Given the description of an element on the screen output the (x, y) to click on. 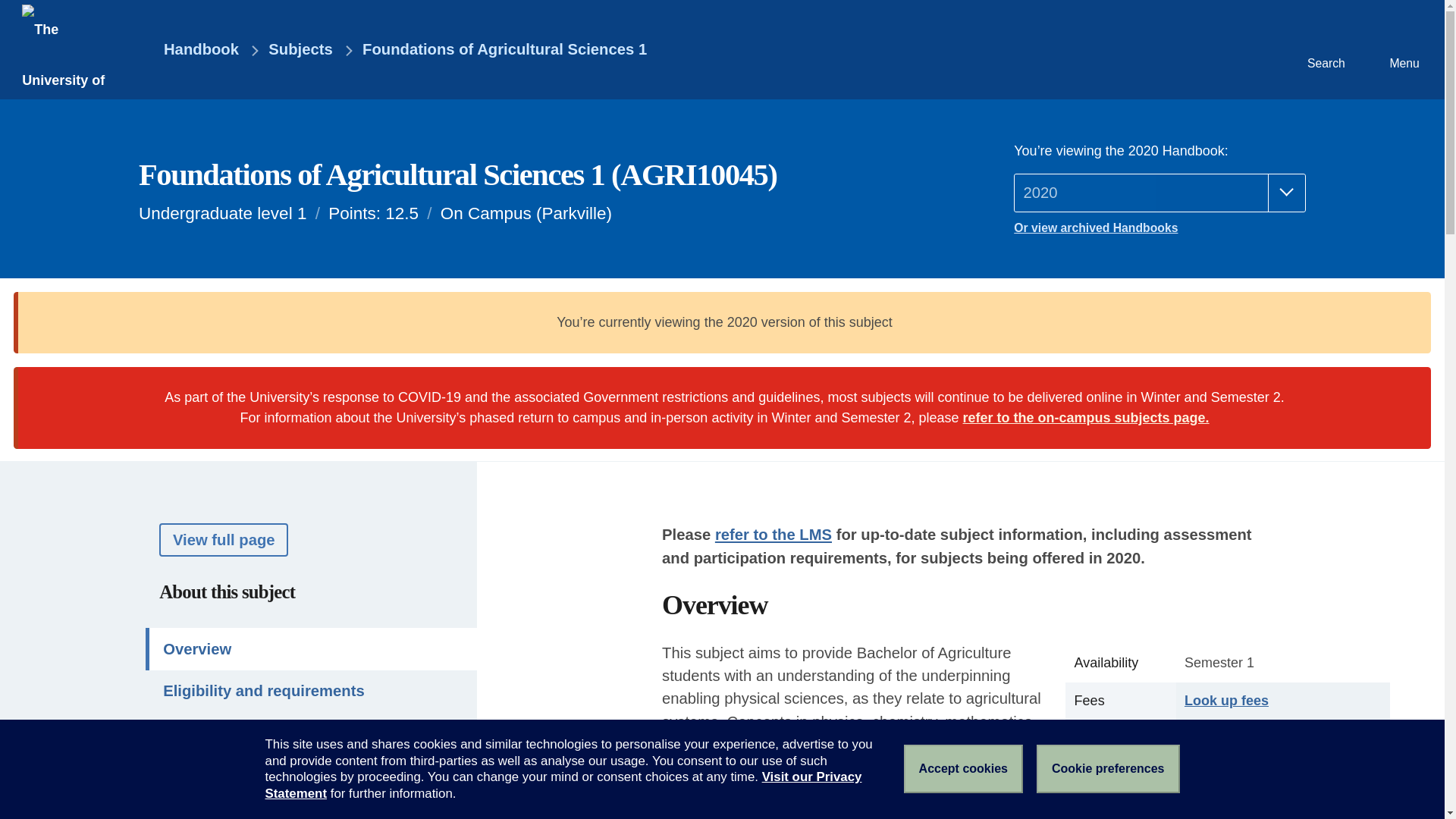
Dates and times (311, 774)
Search (1324, 49)
Subjects (299, 49)
Further information (311, 807)
refer to the LMS (772, 534)
Eligibility and requirements (311, 690)
Search (1324, 49)
Or view archived Handbooks (1159, 228)
View full page (223, 539)
Look up fees (1226, 700)
Foundations of Agricultural Sciences 1 (504, 49)
refer to the on-campus subjects page. (1085, 417)
Assessment (311, 732)
Handbook (189, 49)
Overview (311, 648)
